Given the description of an element on the screen output the (x, y) to click on. 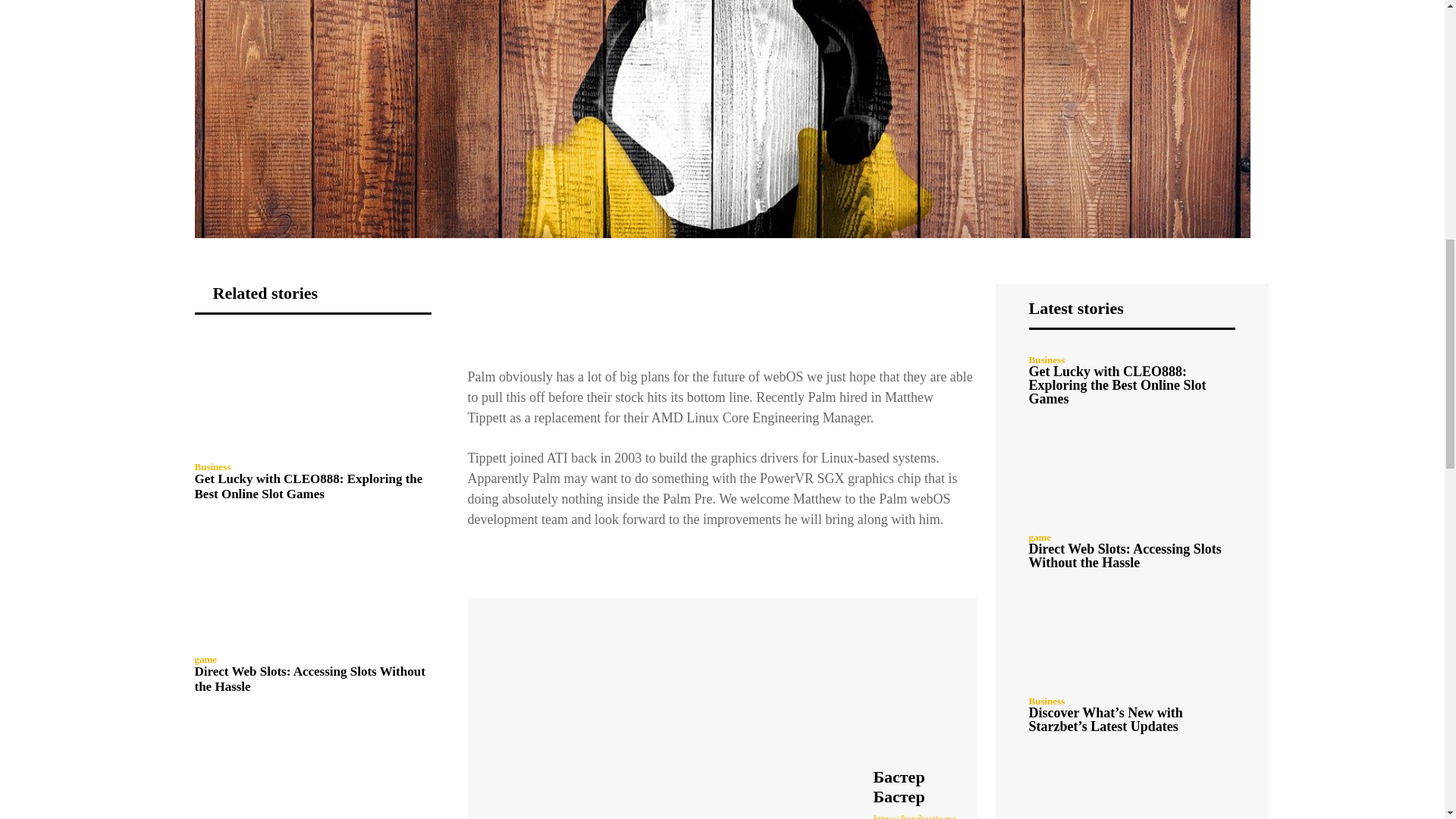
Get Lucky with CLEO888: Exploring the Best Online Slot Games (311, 392)
Get Lucky with CLEO888: Exploring the Best Online Slot Games (307, 486)
